Given the description of an element on the screen output the (x, y) to click on. 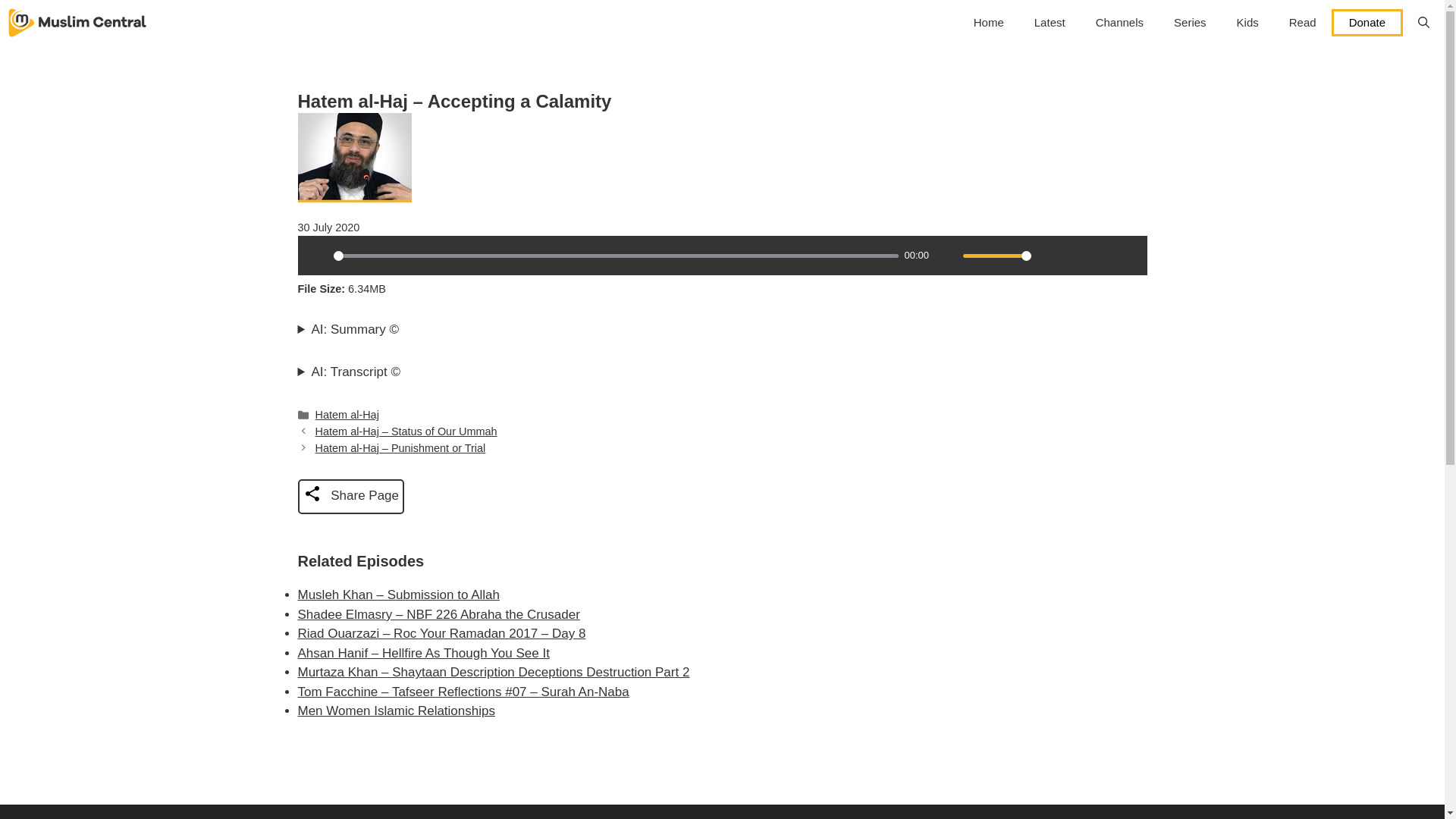
Muslim Central (77, 22)
1 (996, 255)
Donate (1367, 22)
Kids (1247, 22)
0 (615, 255)
Settings (1048, 255)
Latest (1049, 22)
Read (1303, 22)
Forward 10s (1126, 255)
Men Women Islamic Relationships (396, 710)
